Given the description of an element on the screen output the (x, y) to click on. 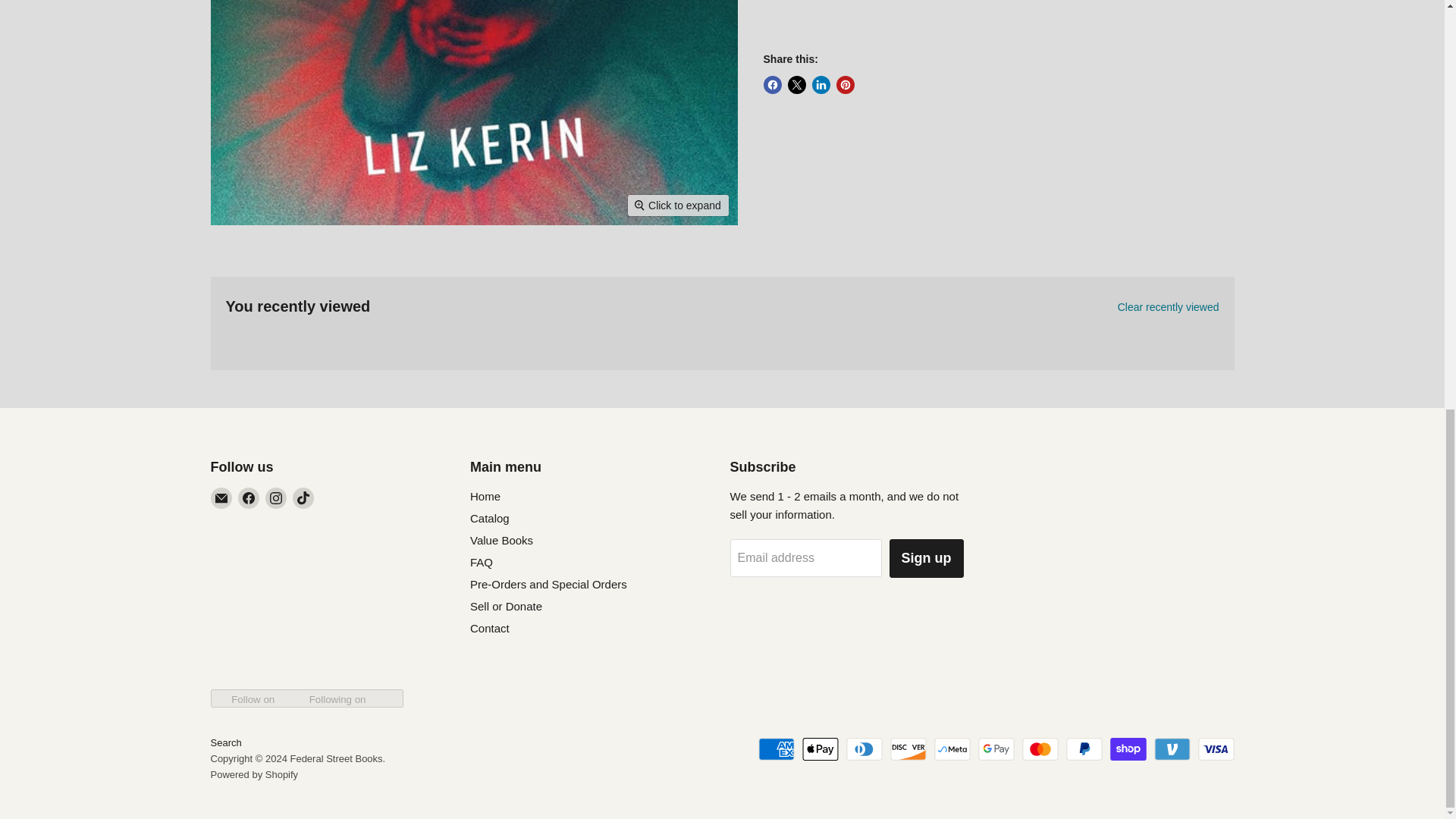
Email (221, 497)
Apple Pay (820, 748)
Share on LinkedIn (819, 85)
Click to expand (678, 205)
Discover (907, 748)
Instagram (275, 497)
American Express (776, 748)
Share on X (796, 85)
Diners Club (863, 748)
Share on Facebook (771, 85)
